Given the description of an element on the screen output the (x, y) to click on. 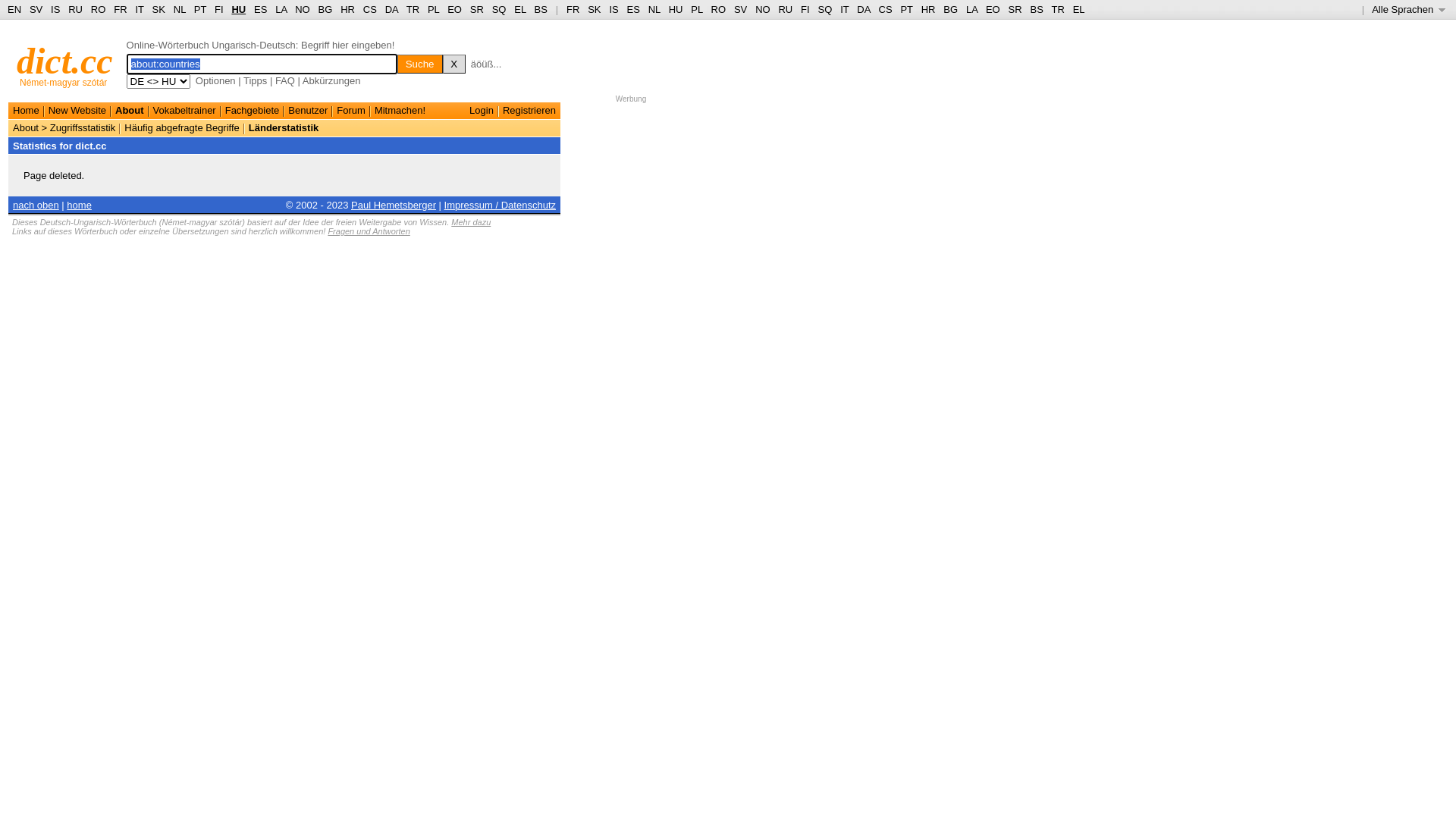
TR Element type: text (1057, 9)
DA Element type: text (862, 9)
FR Element type: text (572, 9)
EN Element type: text (14, 9)
dict.cc Element type: text (64, 60)
EO Element type: text (992, 9)
Fragen und Antworten Element type: text (368, 230)
RU Element type: text (75, 9)
Fachgebiete Element type: text (252, 110)
ES Element type: text (633, 9)
Mehr dazu Element type: text (470, 221)
EL Element type: text (1079, 9)
PL Element type: text (433, 9)
SQ Element type: text (499, 9)
IS Element type: text (54, 9)
SQ Element type: text (824, 9)
LA Element type: text (971, 9)
RO Element type: text (718, 9)
LA Element type: text (280, 9)
HU Element type: text (675, 9)
About Element type: text (129, 110)
FI Element type: text (804, 9)
ES Element type: text (260, 9)
Registrieren Element type: text (528, 110)
NO Element type: text (762, 9)
BS Element type: text (540, 9)
NL Element type: text (179, 9)
PT Element type: text (200, 9)
Impressum / Datenschutz Element type: text (499, 204)
RU Element type: text (785, 9)
FR Element type: text (119, 9)
SR Element type: text (476, 9)
RO Element type: text (98, 9)
SV Element type: text (740, 9)
HR Element type: text (347, 9)
NL Element type: text (654, 9)
IT Element type: text (844, 9)
SR Element type: text (1015, 9)
SK Element type: text (593, 9)
Forum Element type: text (350, 110)
PT Element type: text (906, 9)
SV Element type: text (35, 9)
Optionen Element type: text (215, 80)
BG Element type: text (325, 9)
CS Element type: text (884, 9)
nach oben Element type: text (35, 204)
BG Element type: text (950, 9)
Login Element type: text (481, 110)
Home Element type: text (25, 110)
BS Element type: text (1035, 9)
About Element type: text (25, 127)
EO Element type: text (454, 9)
IS Element type: text (613, 9)
Mitmachen! Element type: text (399, 110)
Tipps Element type: text (254, 80)
Suche Element type: text (419, 63)
HR Element type: text (928, 9)
IT Element type: text (138, 9)
HU Element type: text (238, 9)
X Element type: text (453, 63)
Vokabeltrainer Element type: text (184, 110)
Paul Hemetsberger Element type: text (393, 204)
EL Element type: text (519, 9)
TR Element type: text (412, 9)
SK Element type: text (158, 9)
FAQ Element type: text (284, 80)
DA Element type: text (391, 9)
FI Element type: text (218, 9)
Zugriffsstatistik Element type: text (82, 127)
home Element type: text (78, 204)
PL Element type: text (696, 9)
New Website Element type: text (77, 110)
Alle Sprachen  Element type: text (1408, 9)
CS Element type: text (369, 9)
Benutzer Element type: text (307, 110)
NO Element type: text (302, 9)
